Given the description of an element on the screen output the (x, y) to click on. 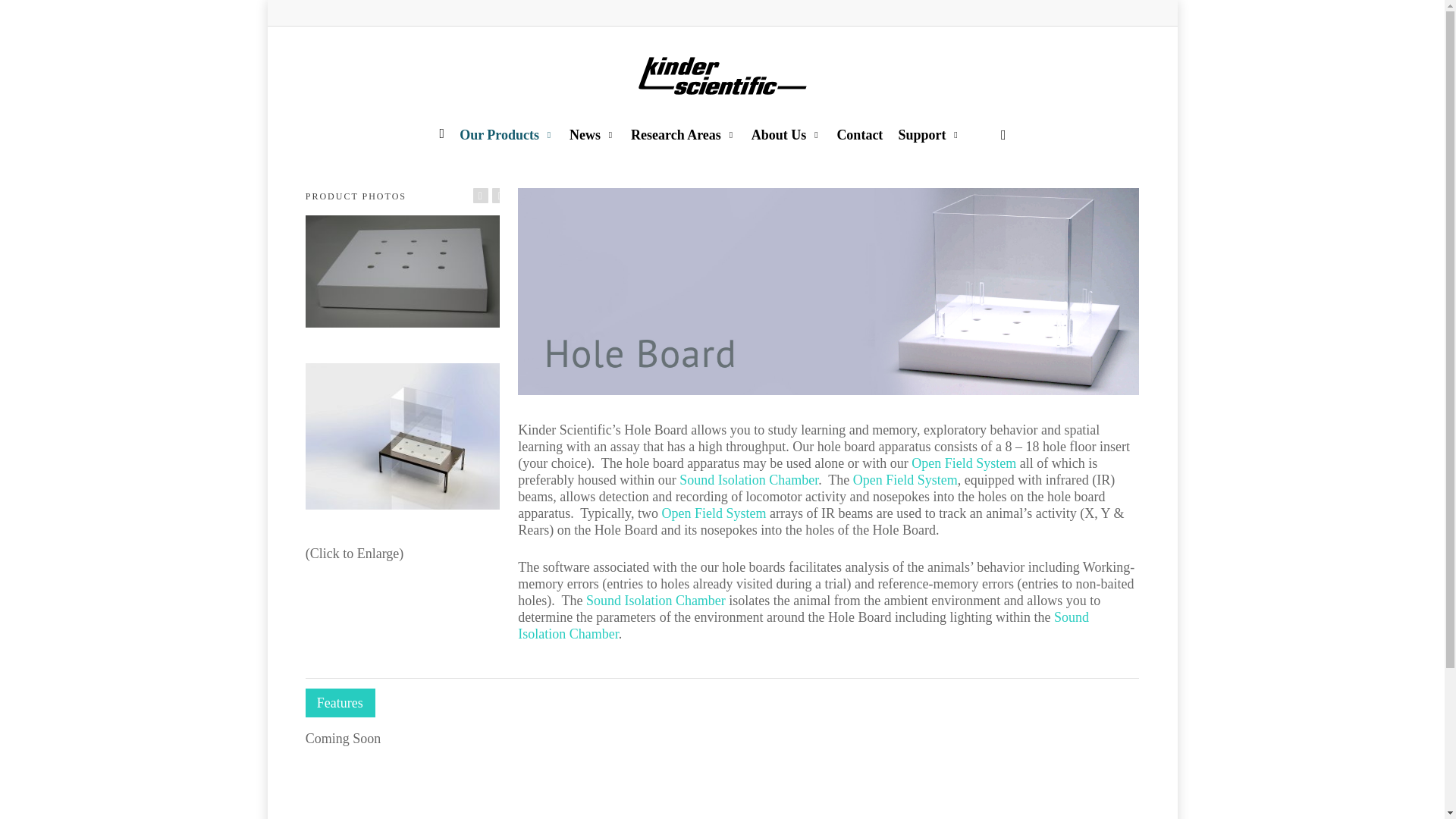
Our Products (506, 134)
